Given the description of an element on the screen output the (x, y) to click on. 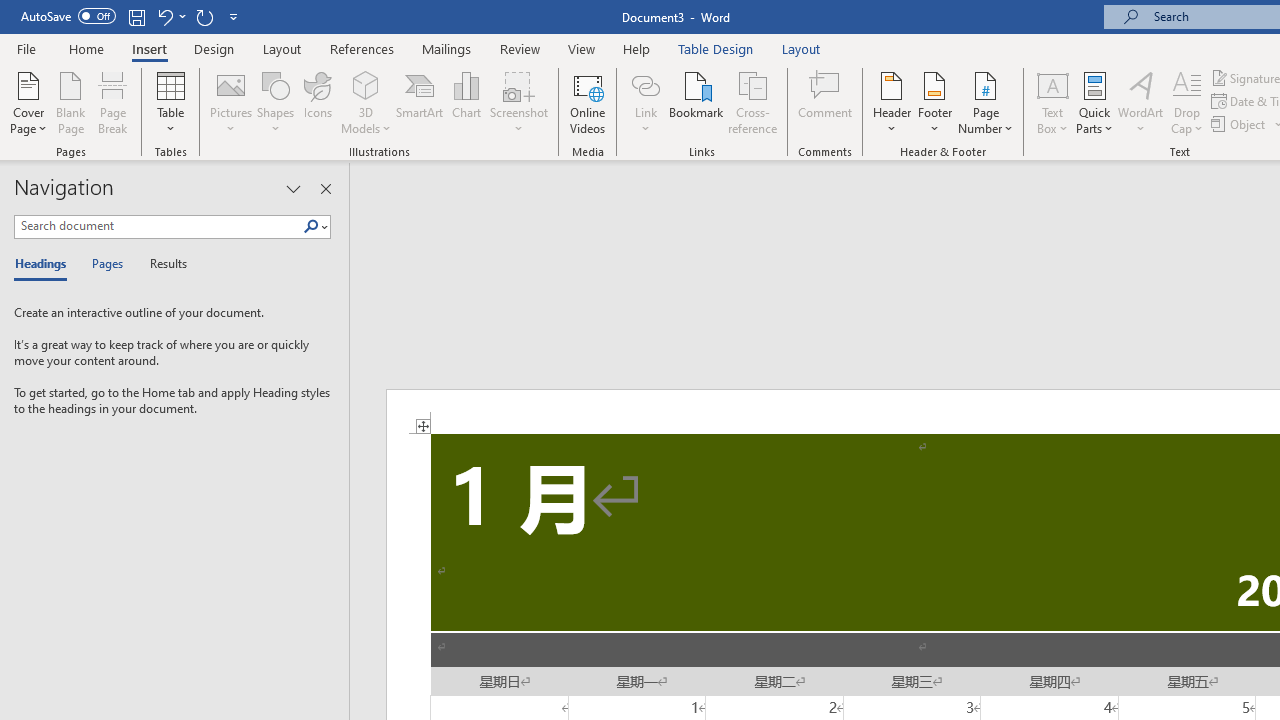
Pictures (230, 102)
Icons (317, 102)
Search document (157, 226)
Footer (934, 102)
Insert (149, 48)
Header (891, 102)
Undo Increase Indent (170, 15)
Close pane (325, 188)
Quick Parts (1094, 102)
Shapes (275, 102)
View (582, 48)
Online Videos... (588, 102)
